Given the description of an element on the screen output the (x, y) to click on. 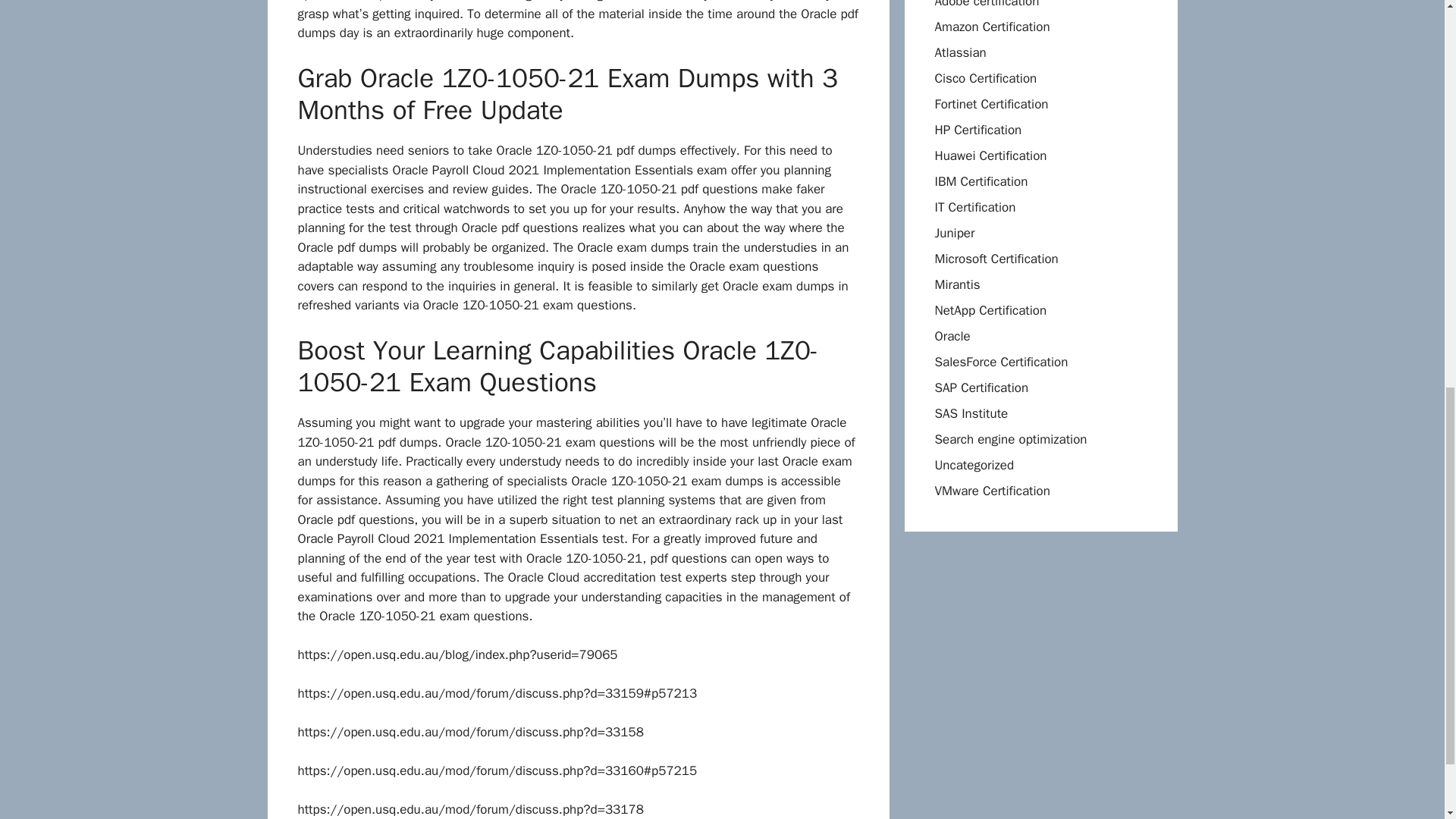
Amazon Certification (991, 26)
IBM Certification (980, 181)
Cisco Certification (985, 78)
Microsoft Certification (996, 258)
Fortinet Certification (991, 104)
Huawei Certification (990, 155)
Atlassian (959, 52)
Adobe certification (986, 4)
HP Certification (978, 130)
IT Certification (974, 207)
